Given the description of an element on the screen output the (x, y) to click on. 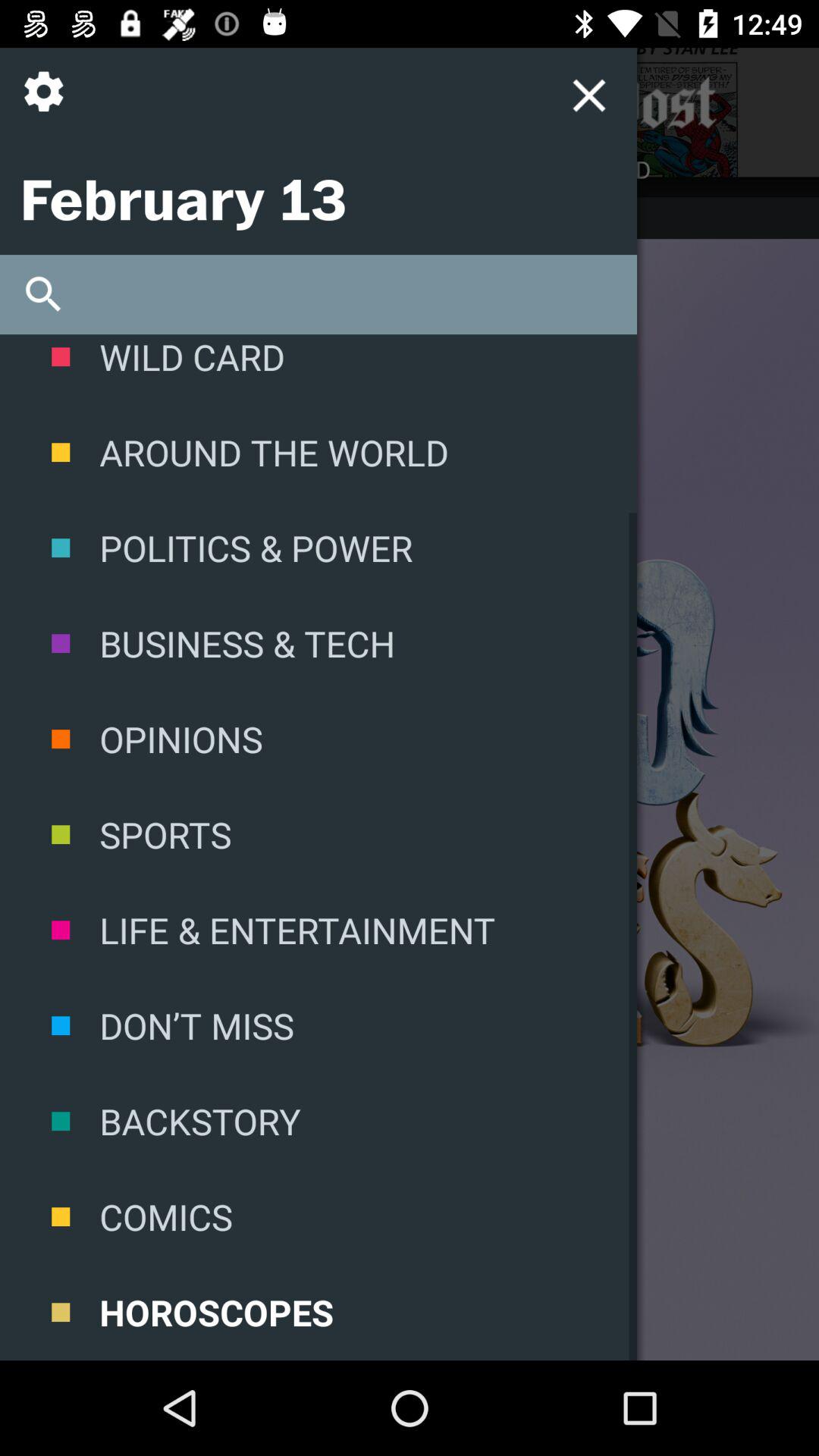
search area for the site (318, 294)
